Given the description of an element on the screen output the (x, y) to click on. 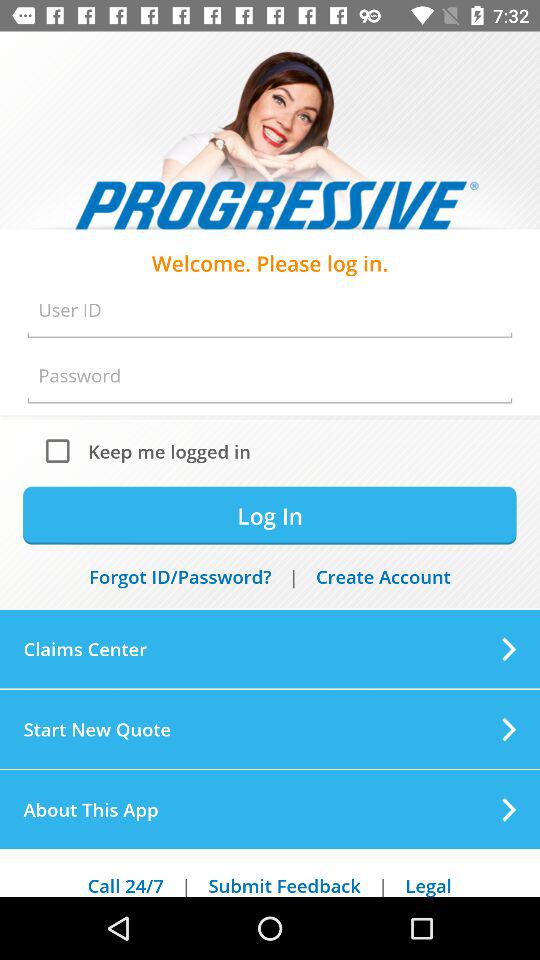
enter userid (269, 310)
